Given the description of an element on the screen output the (x, y) to click on. 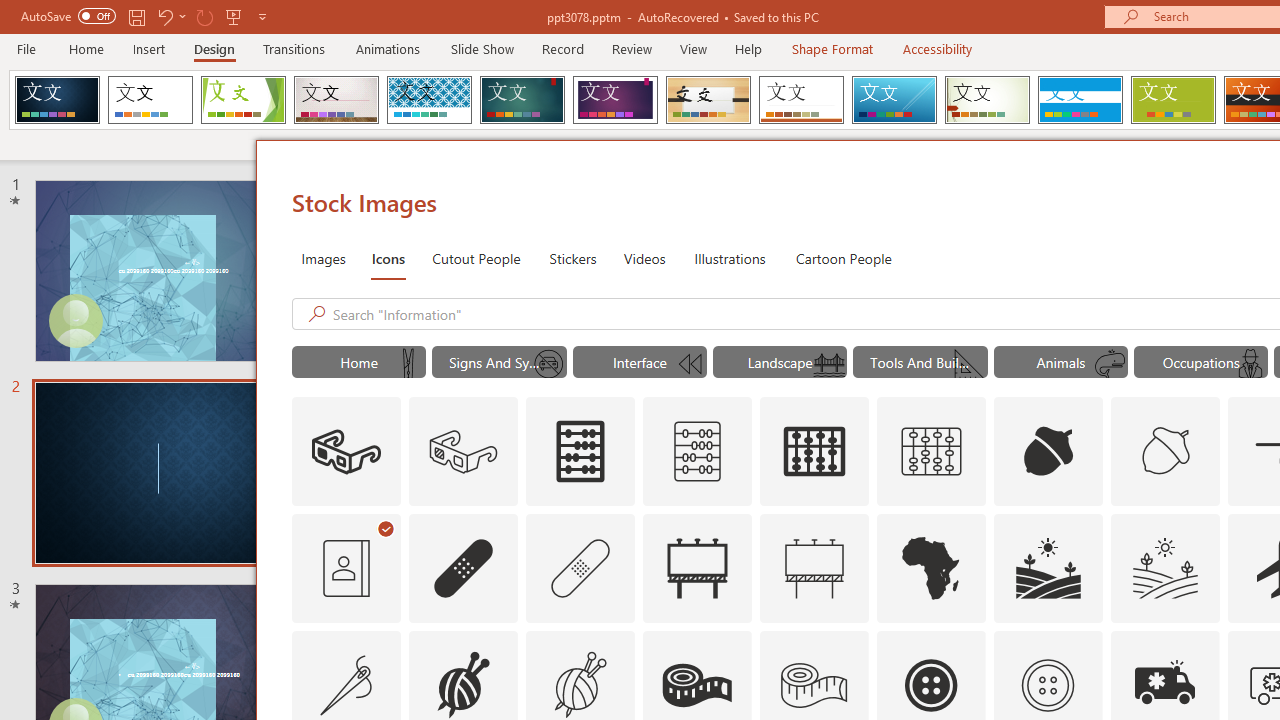
Cartoon People (843, 258)
AutomationID: Icons_Acorn_M (1165, 452)
AutomationID: Icons_Beginning_M (688, 364)
Cutout People (477, 258)
Stickers (573, 258)
Basis (1172, 100)
